Given the description of an element on the screen output the (x, y) to click on. 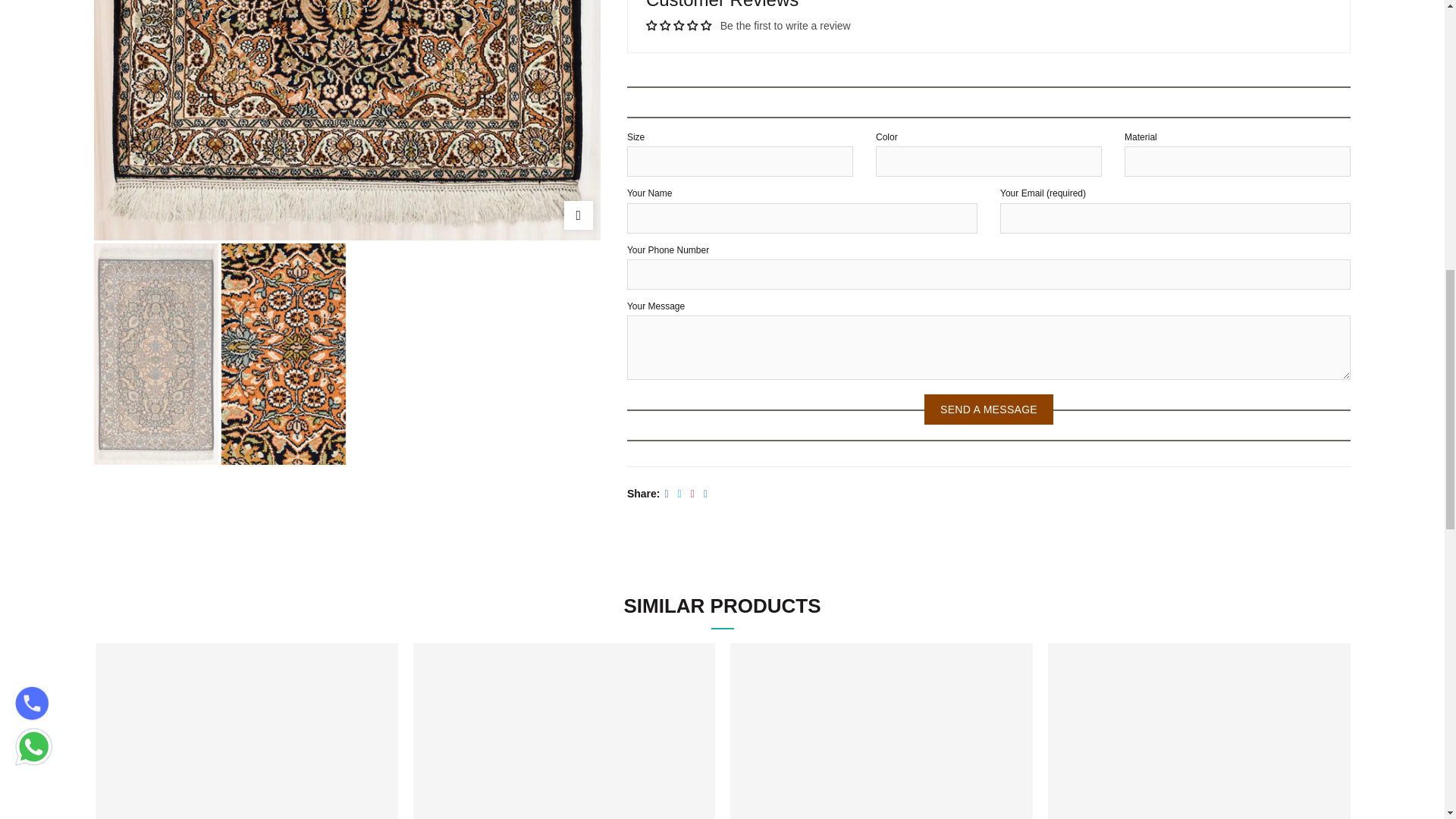
SEND A MESSAGE (988, 409)
ORIENTAL (852, 120)
ORIENTAL (346, 120)
